Given the description of an element on the screen output the (x, y) to click on. 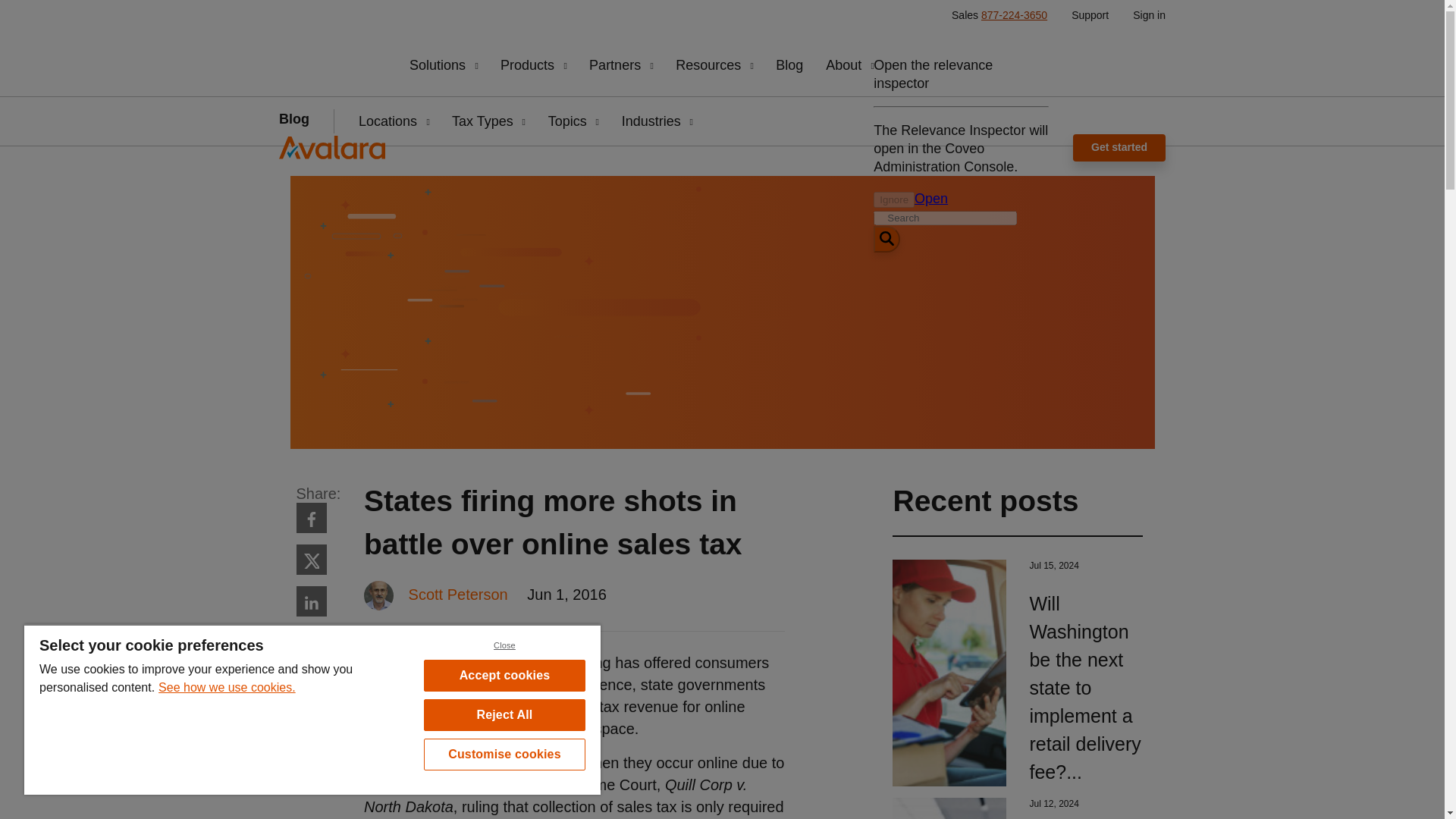
Skip to main content (56, 15)
